Given the description of an element on the screen output the (x, y) to click on. 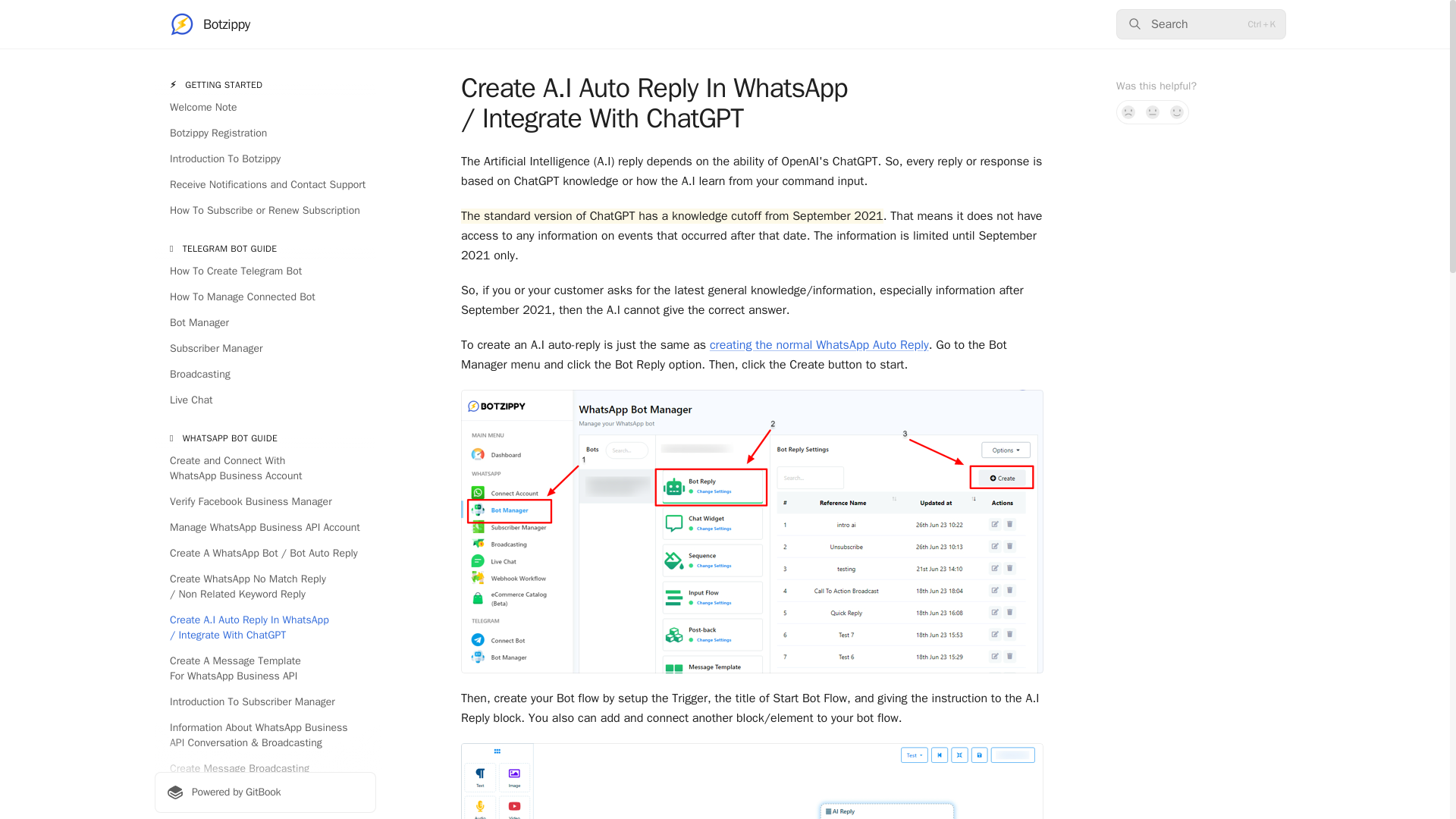
Botzippy (210, 24)
Introduction To Botzippy (264, 159)
How To Manage Connected Bot (264, 297)
Create and Connect With WhatsApp Business Account (264, 468)
Live Chat (264, 400)
Bot Manager (264, 322)
Introduction To Subscriber Manager (264, 702)
Welcome Note (264, 107)
Manage WhatsApp Business API Account (264, 527)
How To Create Telegram Bot (264, 271)
Powered by GitBook (264, 792)
creating the normal WhatsApp Auto Reply (819, 344)
Subscriber Manager (264, 348)
Verify Facebook Business Manager (264, 501)
Botzippy Registration (264, 133)
